Given the description of an element on the screen output the (x, y) to click on. 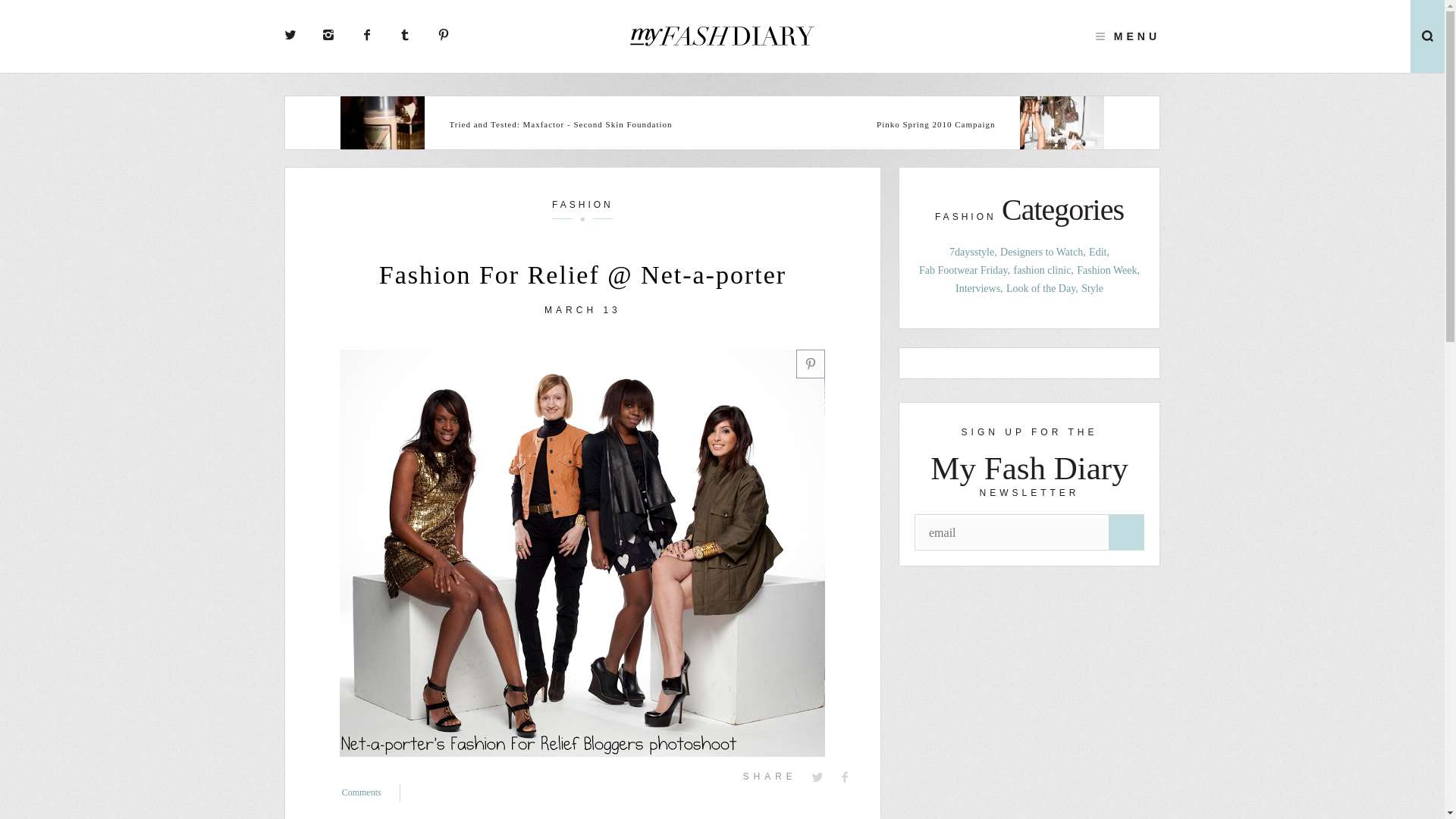
Comments (371, 791)
FASHION (581, 209)
Pinko Spring 2010 Campaign (879, 123)
Tried and Tested: Maxfactor - Second Skin Foundation (563, 123)
